Given the description of an element on the screen output the (x, y) to click on. 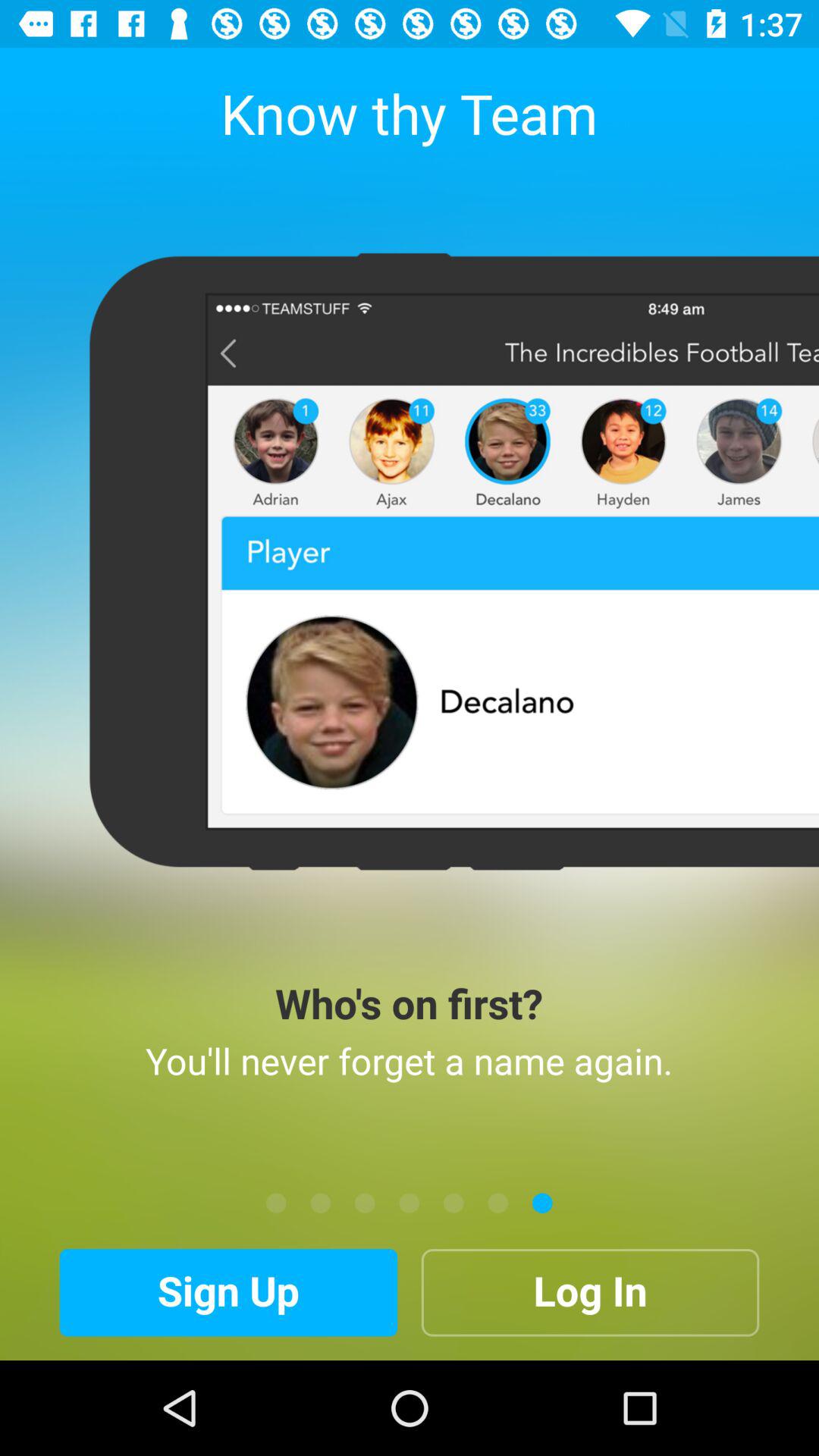
choose the item below the you ll never item (498, 1203)
